Given the description of an element on the screen output the (x, y) to click on. 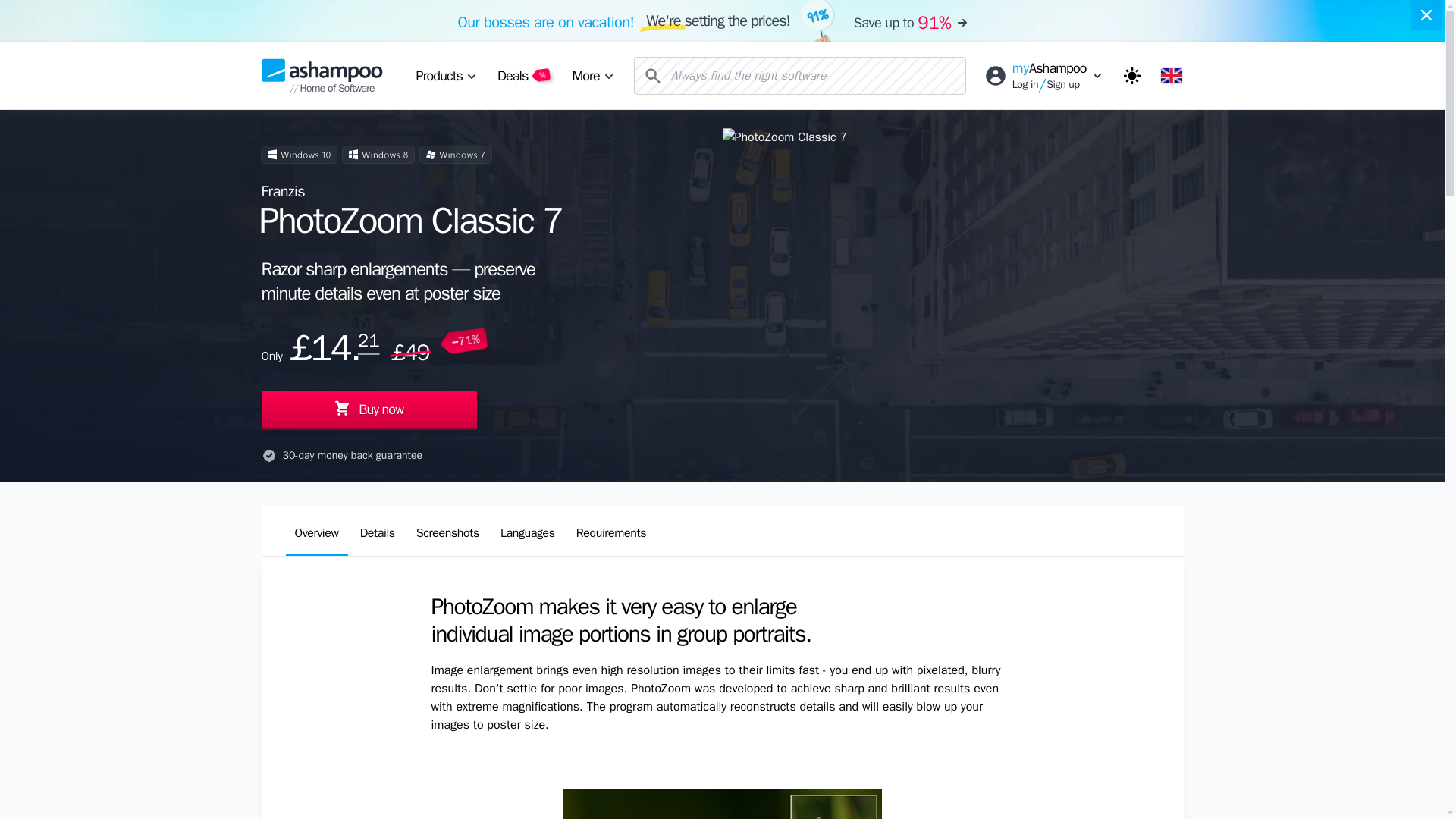
Choose your region (1171, 75)
More (591, 75)
Products (445, 75)
Close (1425, 15)
